Given the description of an element on the screen output the (x, y) to click on. 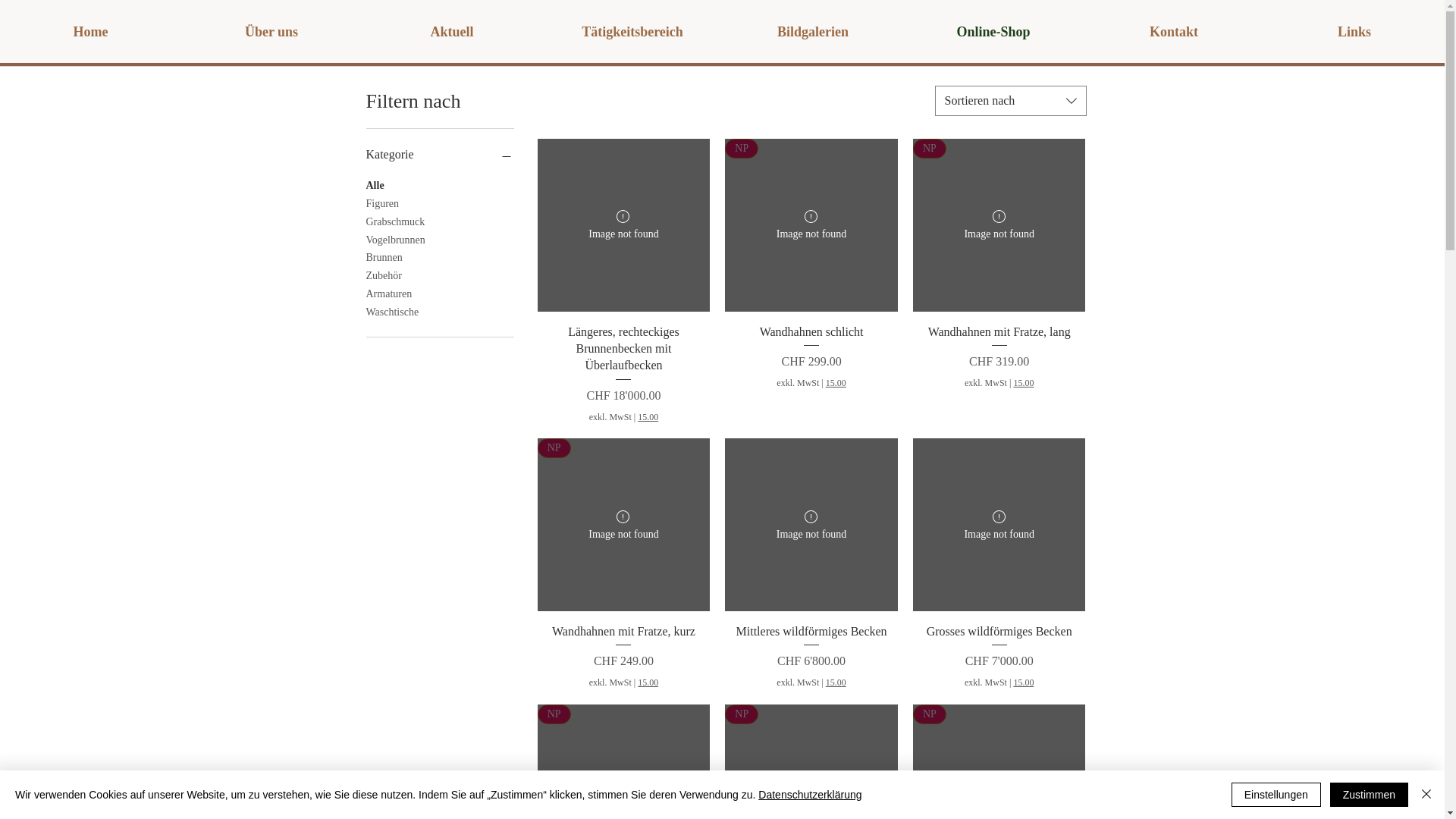
15.00 Element type: text (835, 382)
Einstellungen Element type: text (1276, 794)
Online-Shop Element type: text (993, 31)
15.00 Element type: text (1023, 382)
Wandhahnen schlicht
Preis
CHF 299.00
exkl. MwSt | 15.00 Element type: text (810, 373)
15.00 Element type: text (647, 682)
Wandhahnen schlicht
Image not found
NP Element type: text (810, 224)
Bildgalerien Element type: text (812, 31)
Home Element type: text (90, 31)
Zustimmen Element type: text (1369, 794)
15.00 Element type: text (1023, 682)
Aktuell Element type: text (451, 31)
Kategorie Element type: text (439, 154)
Wandhahnen mit Fratze, kurz
Image not found
NP Element type: text (623, 524)
Links Element type: text (1354, 31)
Sortieren nach Element type: text (1009, 100)
Kontakt Element type: text (1173, 31)
15.00 Element type: text (835, 682)
Wandhahnen mit Fratze, lang
Image not found
NP Element type: text (999, 224)
15.00 Element type: text (647, 417)
